Given the description of an element on the screen output the (x, y) to click on. 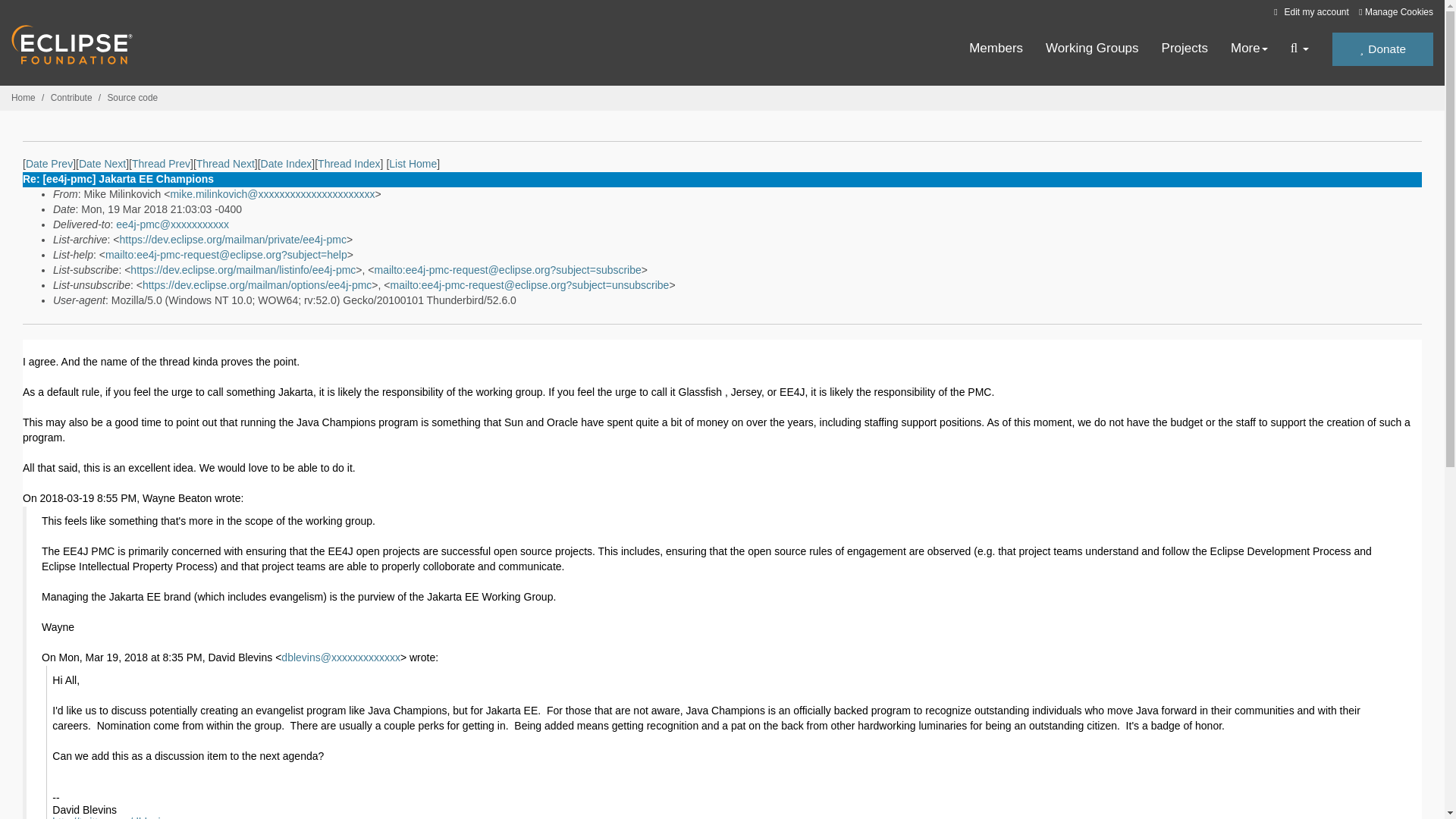
Projects (1184, 48)
More (1249, 48)
Edit my account (1309, 11)
Manage Cookies (1395, 12)
Members (996, 48)
Working Groups (1091, 48)
Donate (1382, 49)
